Given the description of an element on the screen output the (x, y) to click on. 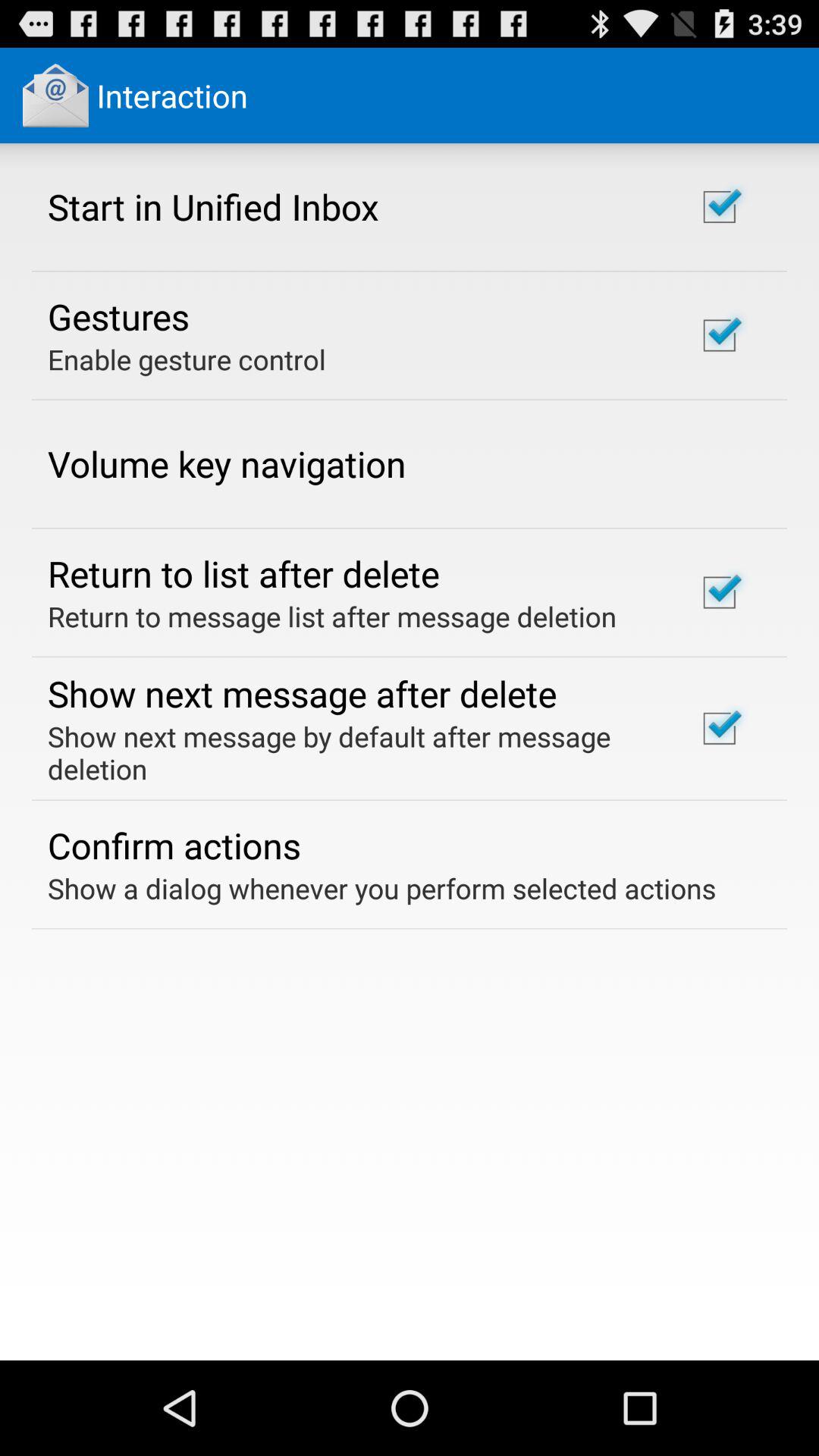
swipe until the confirm actions (173, 845)
